Given the description of an element on the screen output the (x, y) to click on. 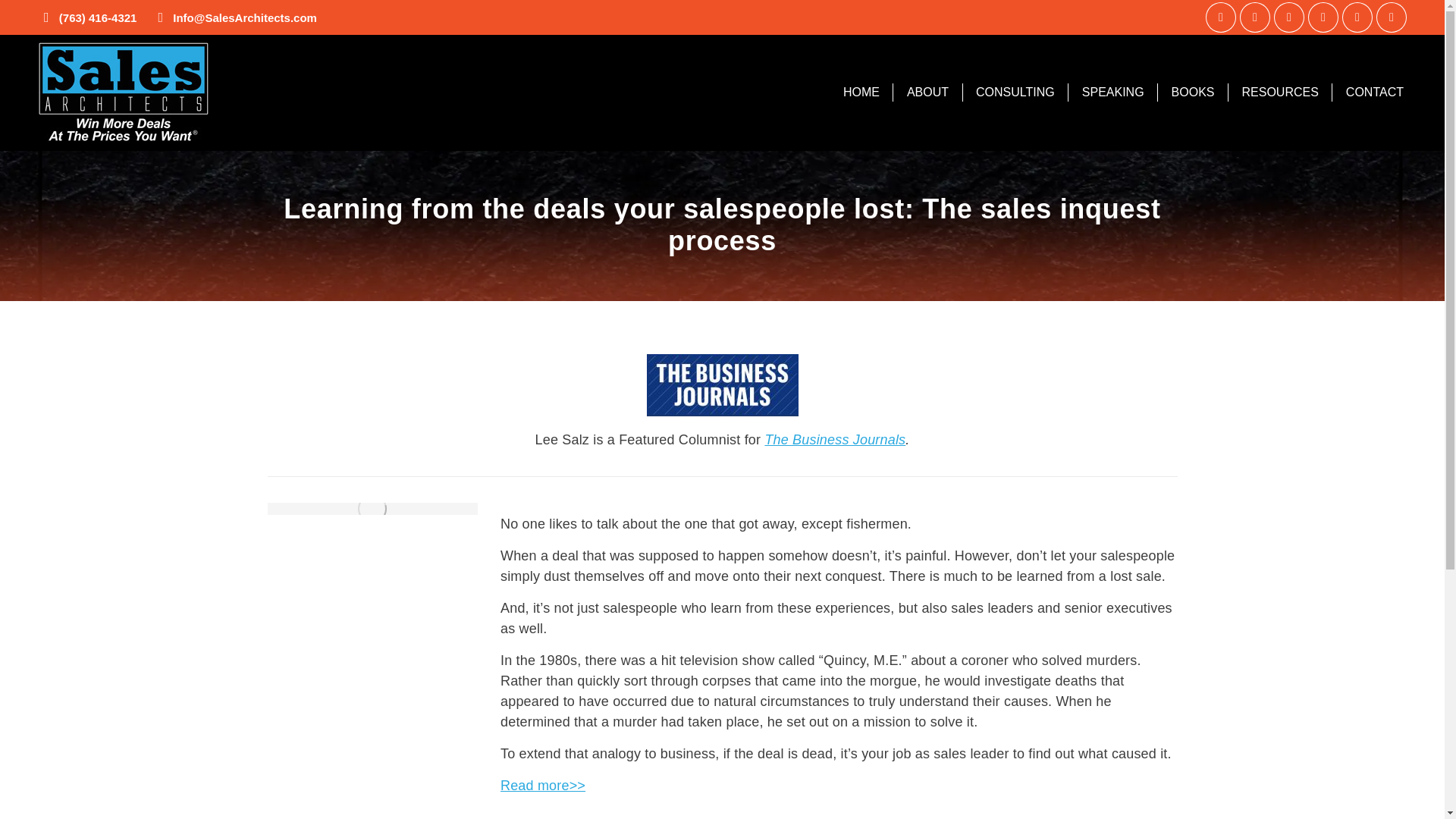
Follow Sales Architects on Instagram (1322, 17)
Follow Sales Architects on YouTube (1357, 17)
Follow Sales Architects on Facebook (1254, 17)
CONSULTING (1015, 91)
Follow Sales Architects on Instagram (1322, 17)
Follow Sales Architects on YouTube (1357, 17)
Follow Sales Architects on TikTok (1390, 17)
Follow Sales Architects on Linkedin (1220, 17)
Follow Sales Architects on TikTok (1390, 17)
Follow Sales Architects on X (1289, 17)
